Given the description of an element on the screen output the (x, y) to click on. 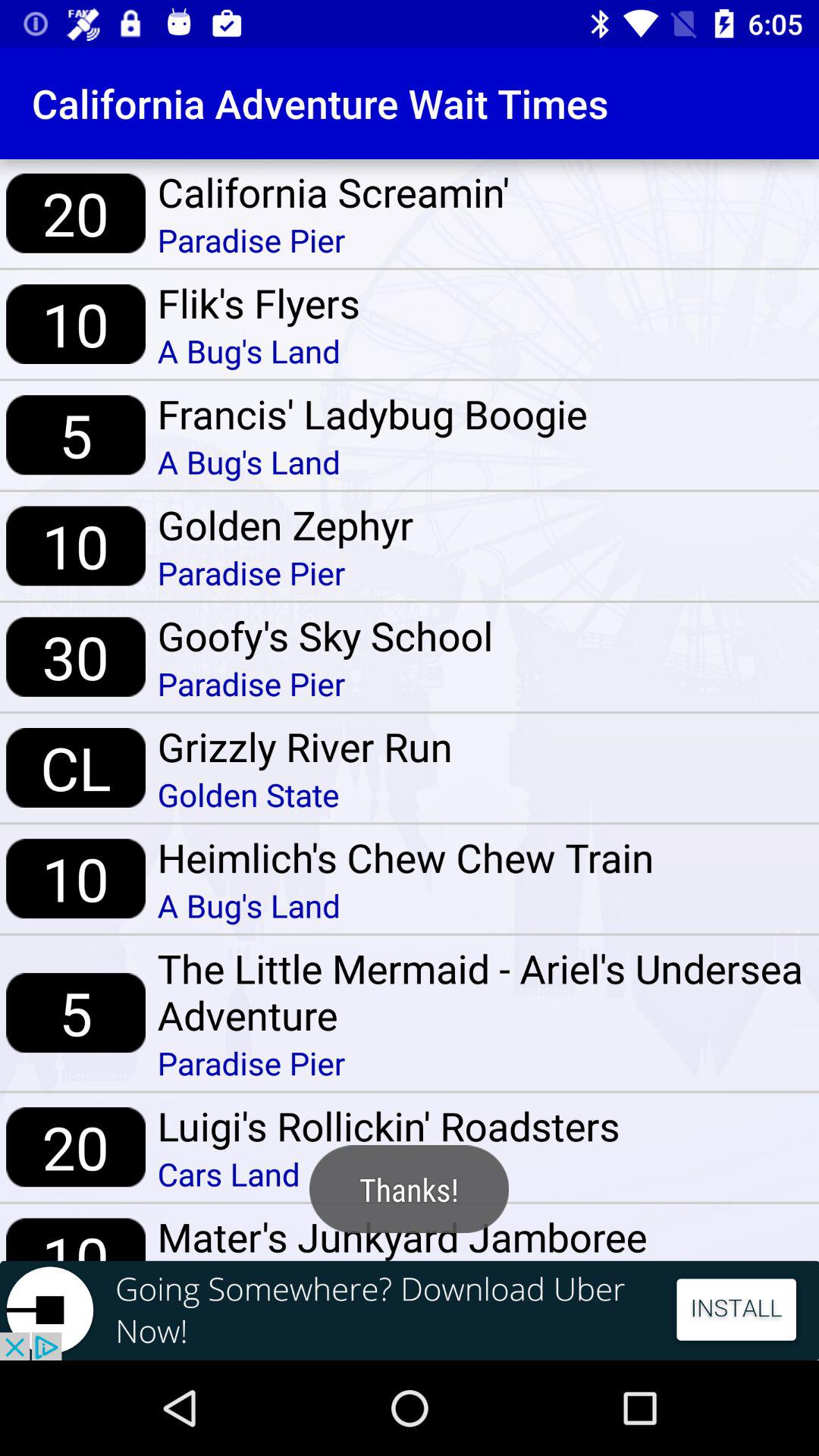
press the item next to 20 (333, 191)
